Given the description of an element on the screen output the (x, y) to click on. 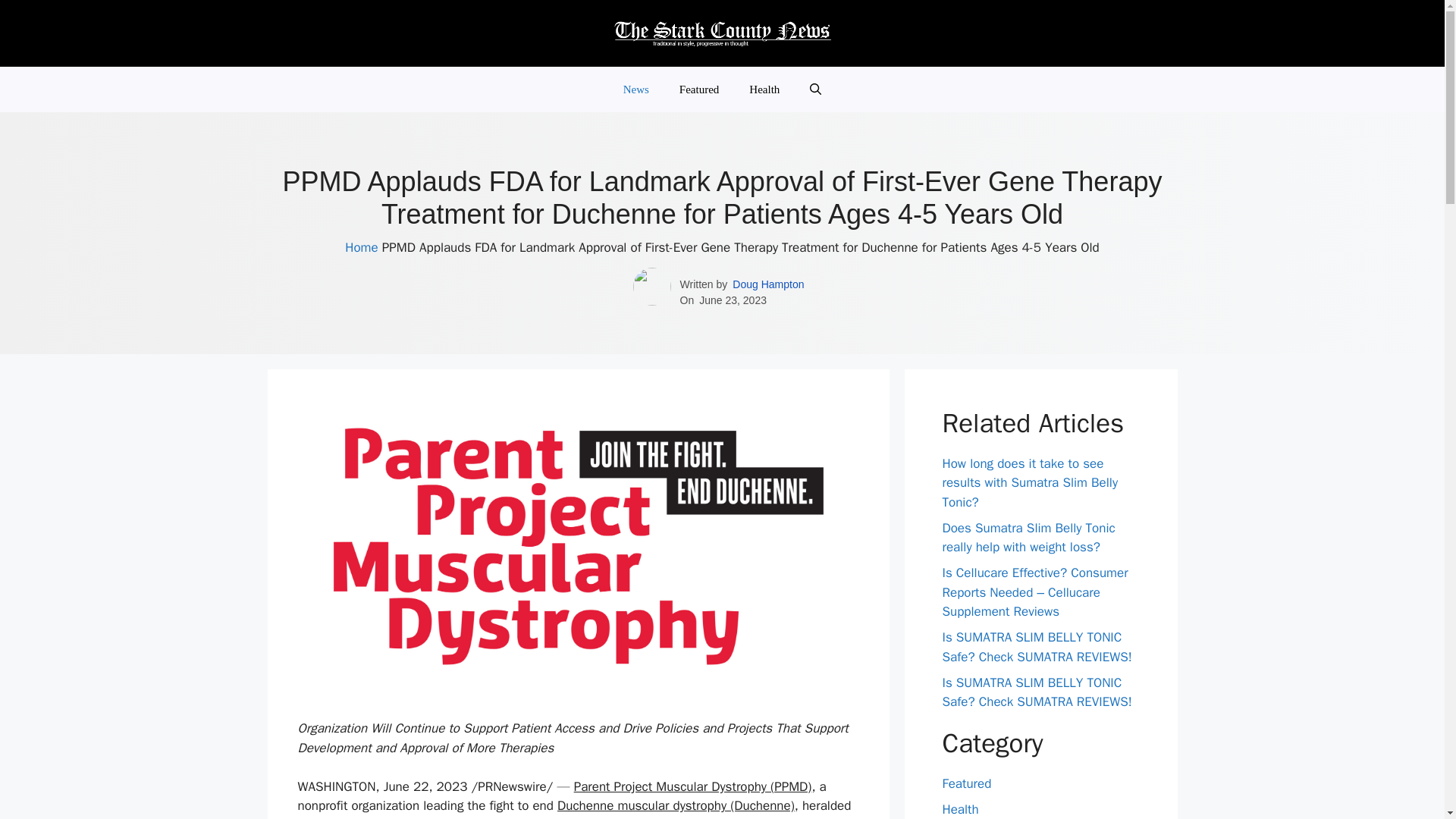
Featured (698, 89)
Health (763, 89)
Is SUMATRA SLIM BELLY TONIC Safe? Check SUMATRA REVIEWS! (1036, 692)
Home (361, 247)
Doug Hampton (767, 284)
Featured (966, 783)
Health (960, 809)
News (635, 89)
Is SUMATRA SLIM BELLY TONIC Safe? Check SUMATRA REVIEWS! (1036, 647)
